Given the description of an element on the screen output the (x, y) to click on. 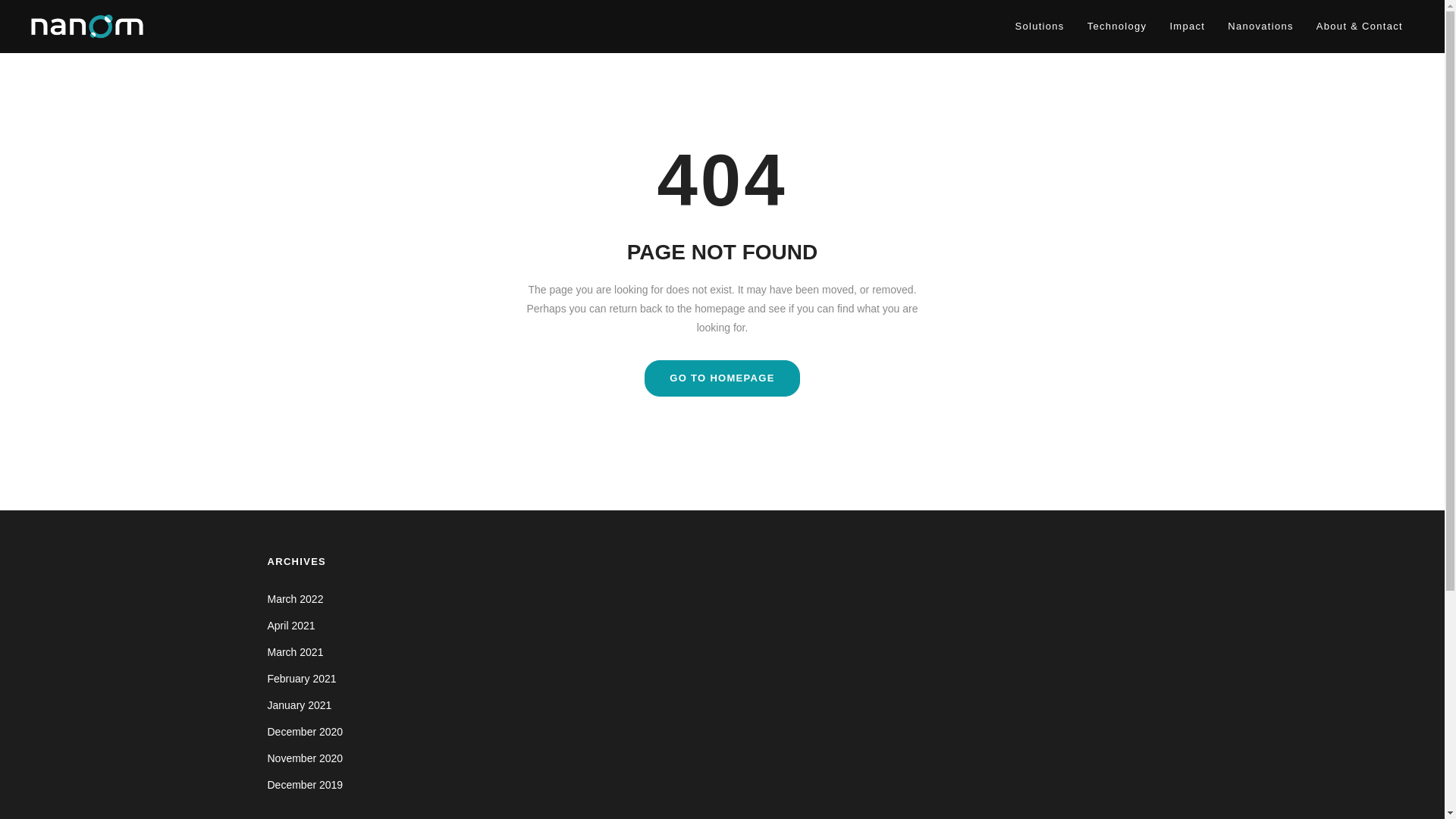
April 2021 (290, 625)
February 2021 (301, 678)
Technology (1116, 26)
Nanovations (1259, 26)
GO TO HOMEPAGE (722, 378)
Solutions (1039, 26)
December 2019 (304, 784)
January 2021 (298, 705)
March 2021 (294, 652)
November 2020 (304, 758)
Impact (1186, 26)
December 2020 (304, 731)
March 2022 (294, 598)
